Given the description of an element on the screen output the (x, y) to click on. 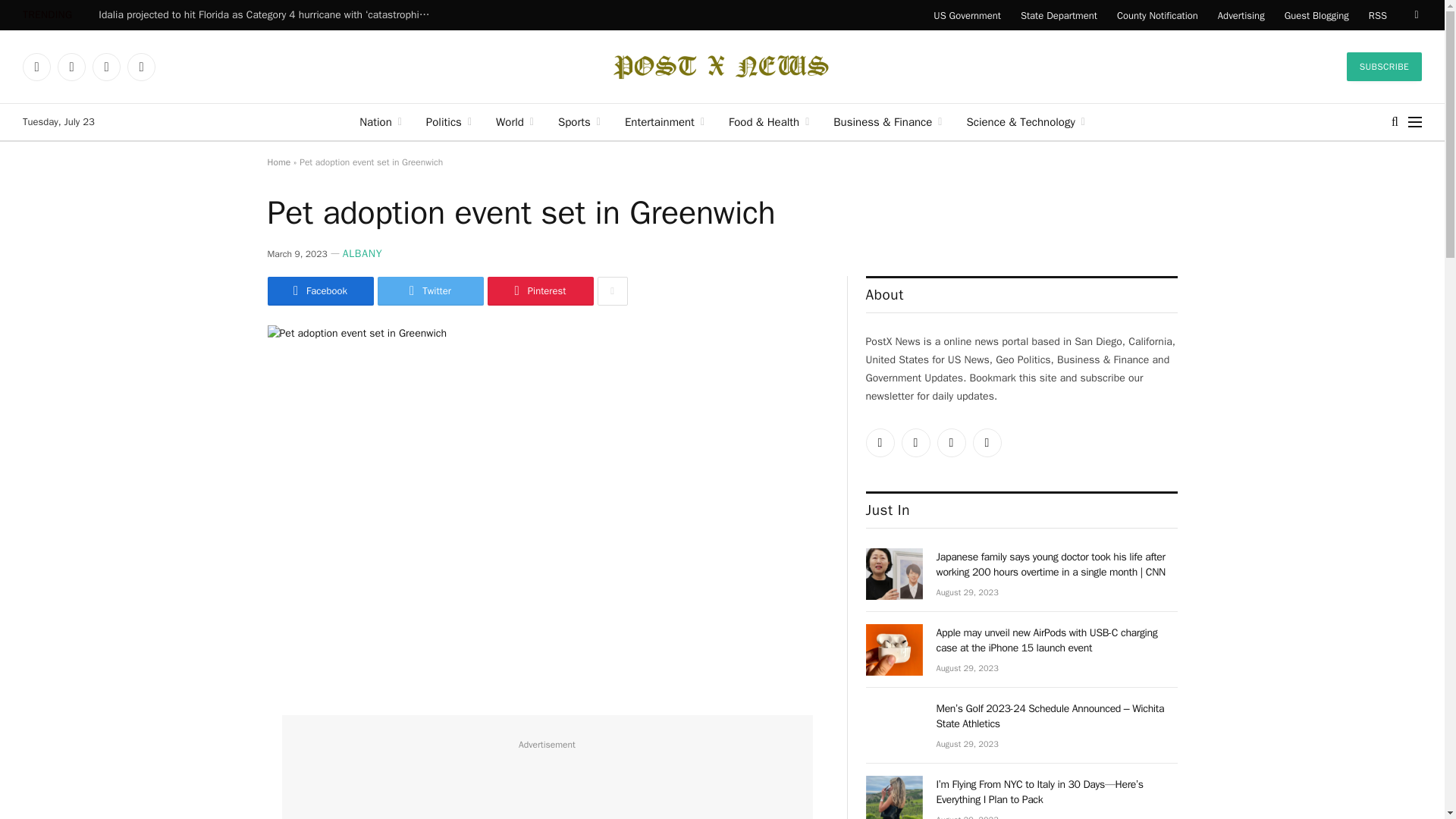
US Government (966, 15)
Advertising (1241, 15)
RSS (1377, 15)
RSS (141, 67)
SUBSCRIBE (1384, 66)
Twitter (36, 67)
Switch to Dark Design - easier on eyes. (1414, 14)
Facebook (71, 67)
Instagram (106, 67)
Nation (380, 122)
State Department (1058, 15)
County Notification (1157, 15)
PostX News (721, 66)
Guest Blogging (1316, 15)
